Given the description of an element on the screen output the (x, y) to click on. 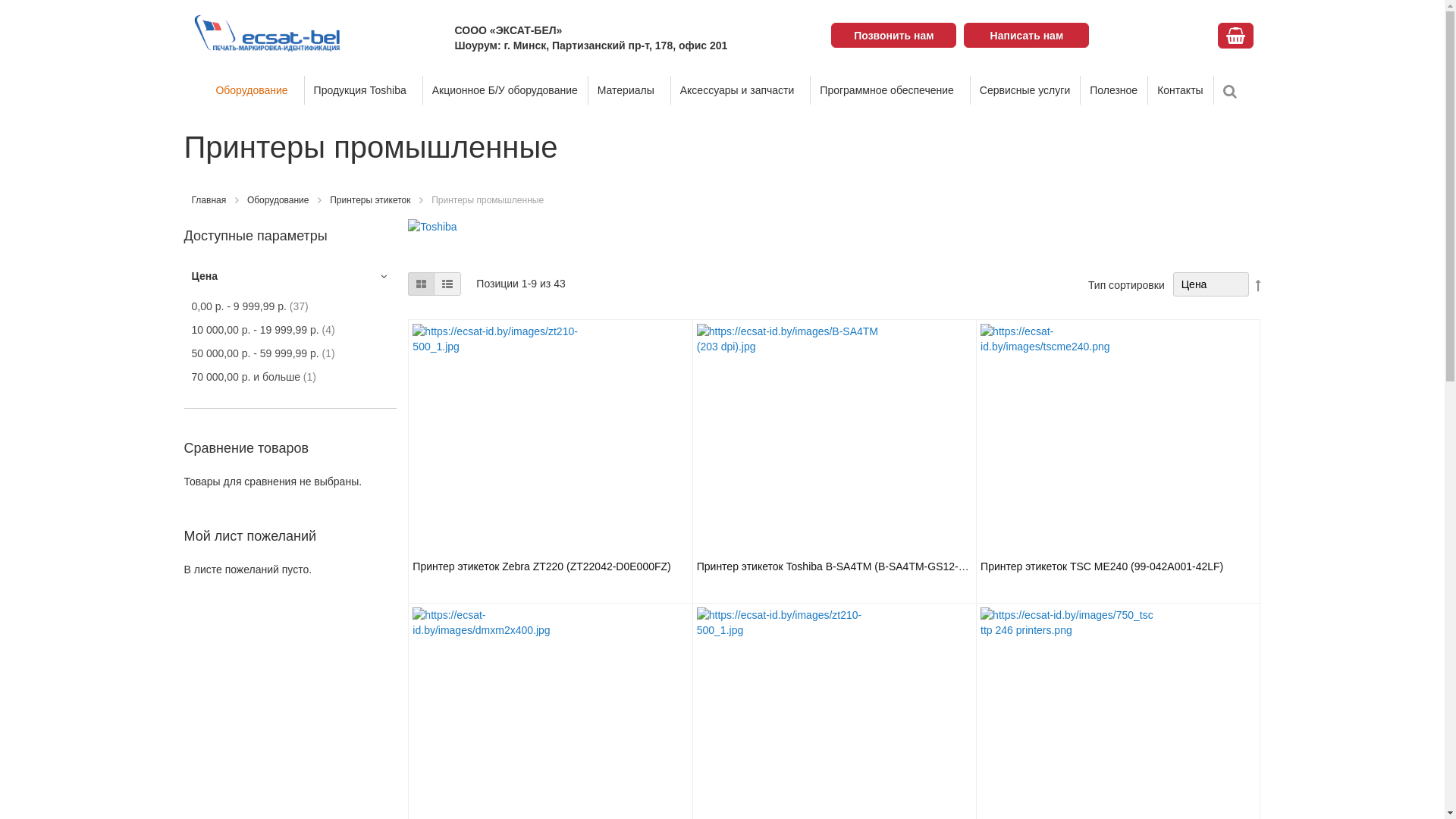
Ecsat-bel Element type: hover (266, 32)
